Given the description of an element on the screen output the (x, y) to click on. 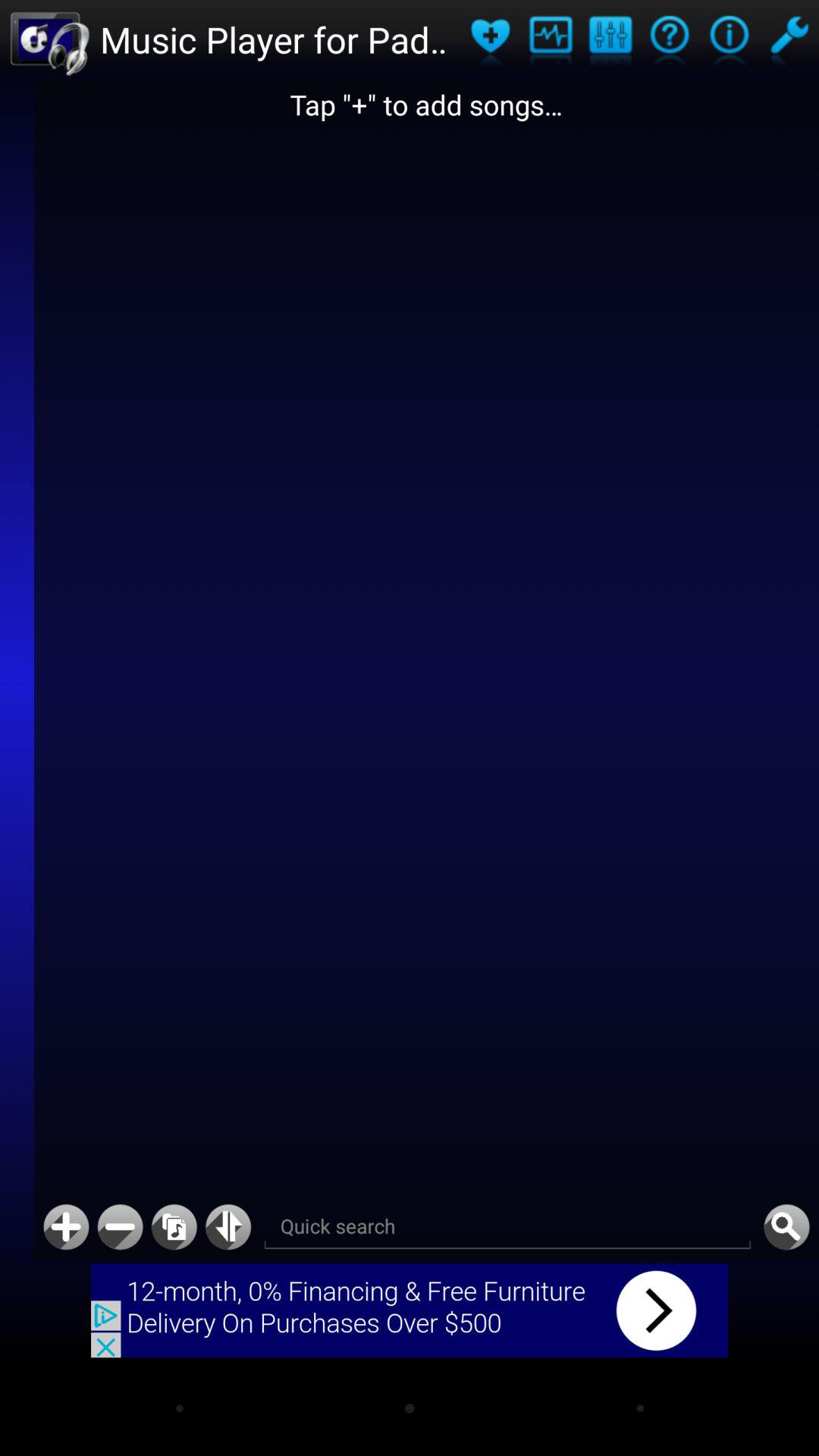
click to return (174, 1226)
